Given the description of an element on the screen output the (x, y) to click on. 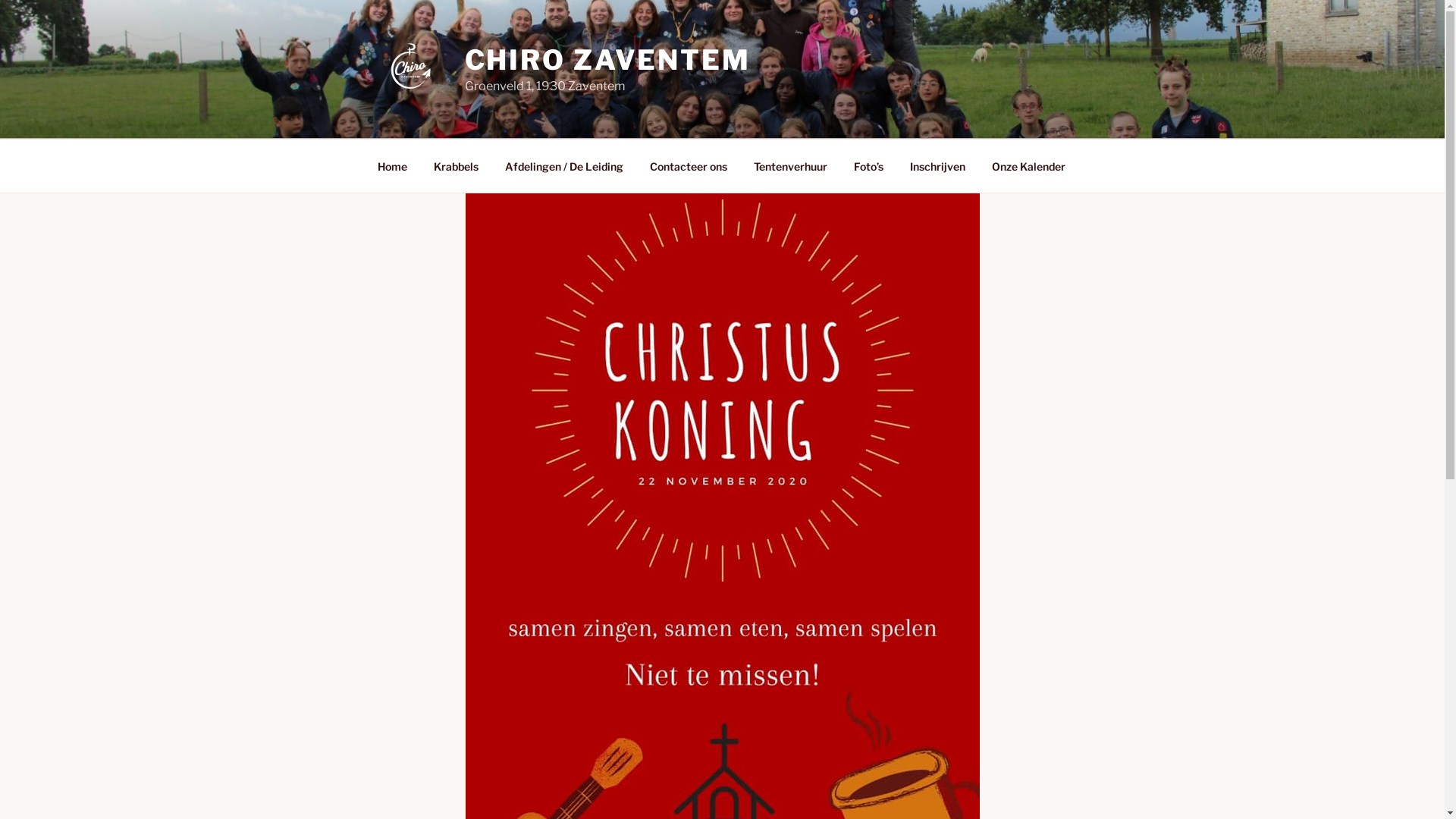
Krabbels Element type: text (455, 165)
Home Element type: text (392, 165)
Afdelingen / De Leiding Element type: text (563, 165)
Onze Kalender Element type: text (1028, 165)
Tentenverhuur Element type: text (790, 165)
CHIRO ZAVENTEM Element type: text (606, 59)
Contacteer ons Element type: text (688, 165)
Inschrijven Element type: text (937, 165)
